Given the description of an element on the screen output the (x, y) to click on. 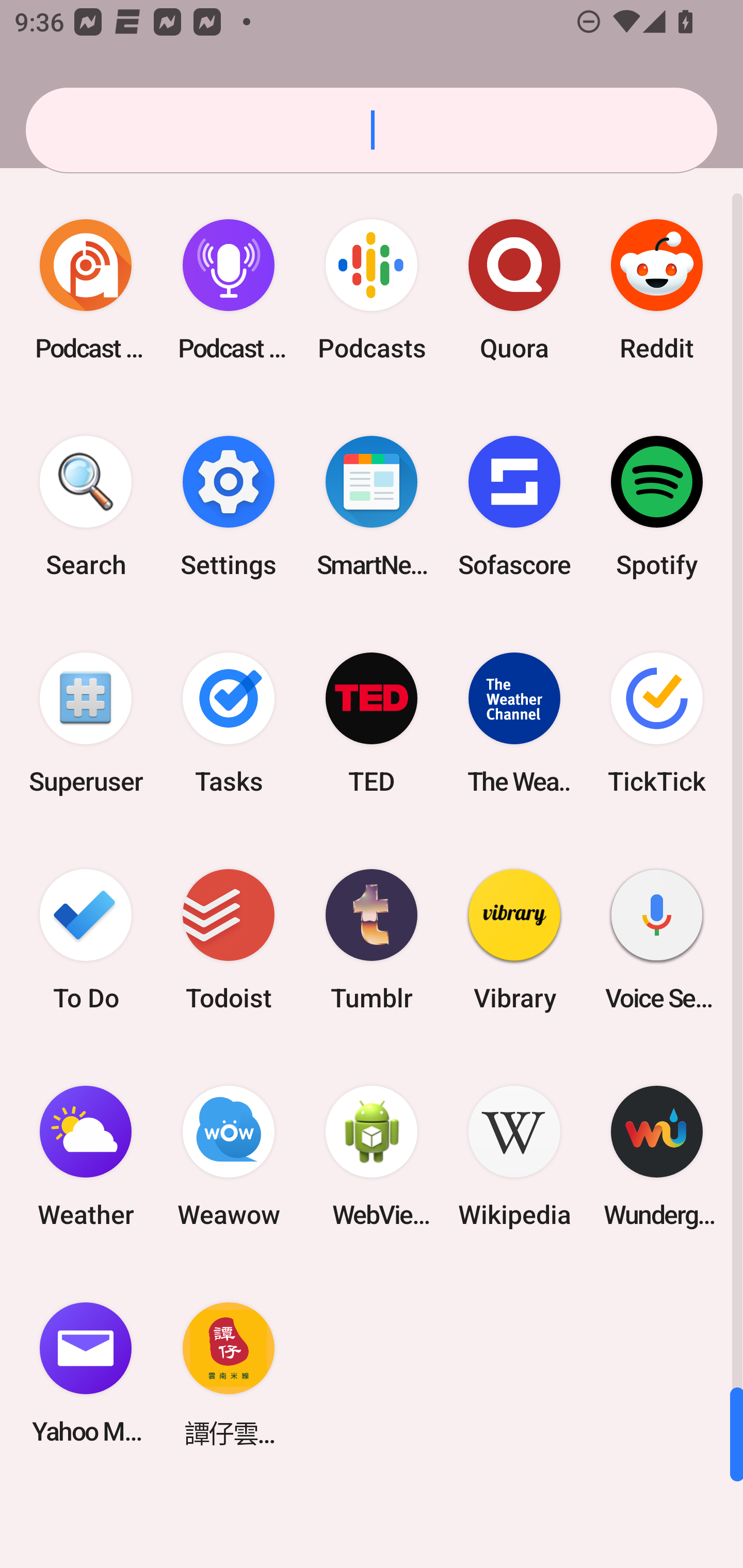
  Search apps (371, 130)
Podcast Addict (85, 289)
Podcast Player (228, 289)
Podcasts (371, 289)
Quora (514, 289)
Reddit (656, 289)
Search (85, 506)
Settings (228, 506)
SmartNews (371, 506)
Sofascore (514, 506)
Spotify (656, 506)
Superuser (85, 722)
Tasks (228, 722)
TED (371, 722)
The Weather Channel (514, 722)
TickTick (656, 722)
To Do (85, 939)
Todoist (228, 939)
Tumblr (371, 939)
Vibrary (514, 939)
Voice Search (656, 939)
Weather (85, 1156)
Weawow (228, 1156)
WebView Browser Tester (371, 1156)
Wikipedia (514, 1156)
Wunderground (656, 1156)
Yahoo Mail (85, 1373)
譚仔雲南米線 (228, 1373)
